Given the description of an element on the screen output the (x, y) to click on. 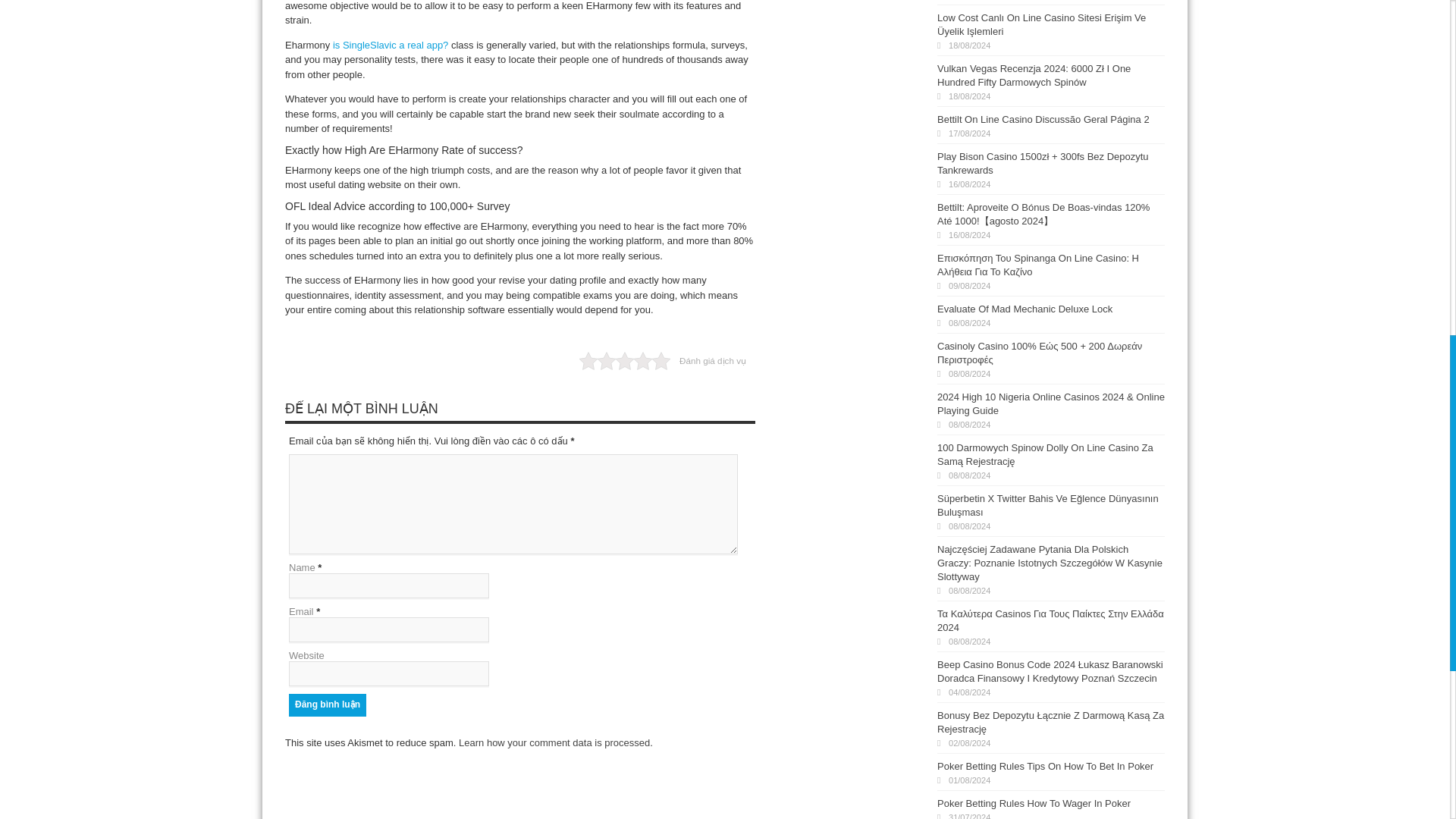
Evaluate Of Mad Mechanic Deluxe Lock (1024, 308)
is SingleSlavic a real app? (390, 44)
Learn how your comment data is processed (553, 742)
